Given the description of an element on the screen output the (x, y) to click on. 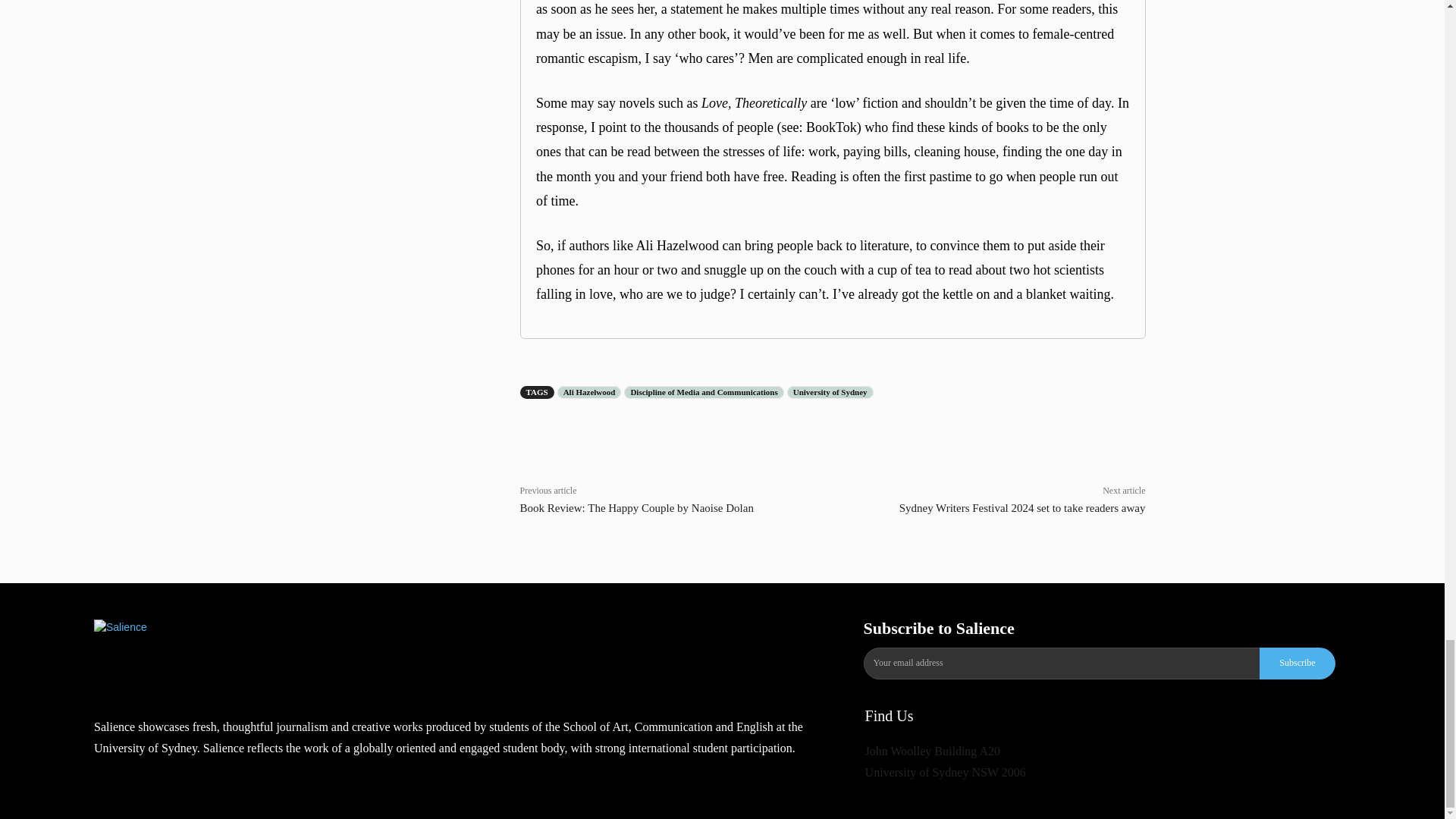
Sydney Writers Festival 2024 set to take readers away (1022, 508)
Book Review: The Happy Couple by Naoise Dolan (636, 508)
Media and Communications (435, 647)
University of Sydney (830, 391)
Ali Hazelwood (589, 391)
Discipline of Media and Communications (703, 391)
Subscribe (1297, 663)
